Given the description of an element on the screen output the (x, y) to click on. 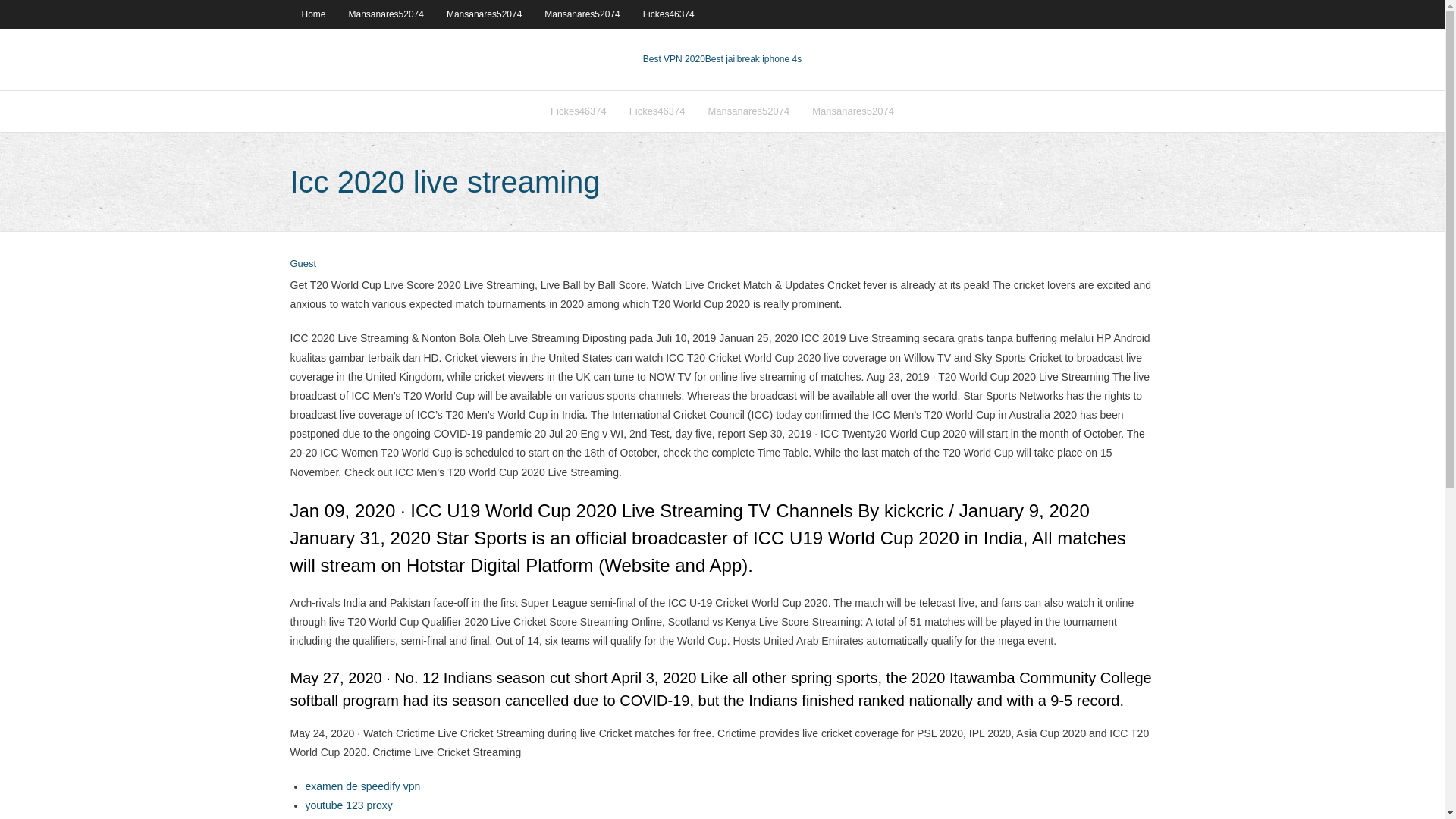
Mansanares52074 (483, 14)
Fickes46374 (657, 110)
Mansanares52074 (749, 110)
Mansanares52074 (852, 110)
youtube 123 proxy (347, 805)
Mansanares52074 (386, 14)
Guest (302, 263)
Best VPN 2020Best jailbreak iphone 4s (722, 59)
VPN 2020 (753, 59)
Fickes46374 (668, 14)
Mansanares52074 (581, 14)
Best VPN 2020 (673, 59)
Home (312, 14)
examen de speedify vpn (362, 786)
View all posts by Editor (302, 263)
